Given the description of an element on the screen output the (x, y) to click on. 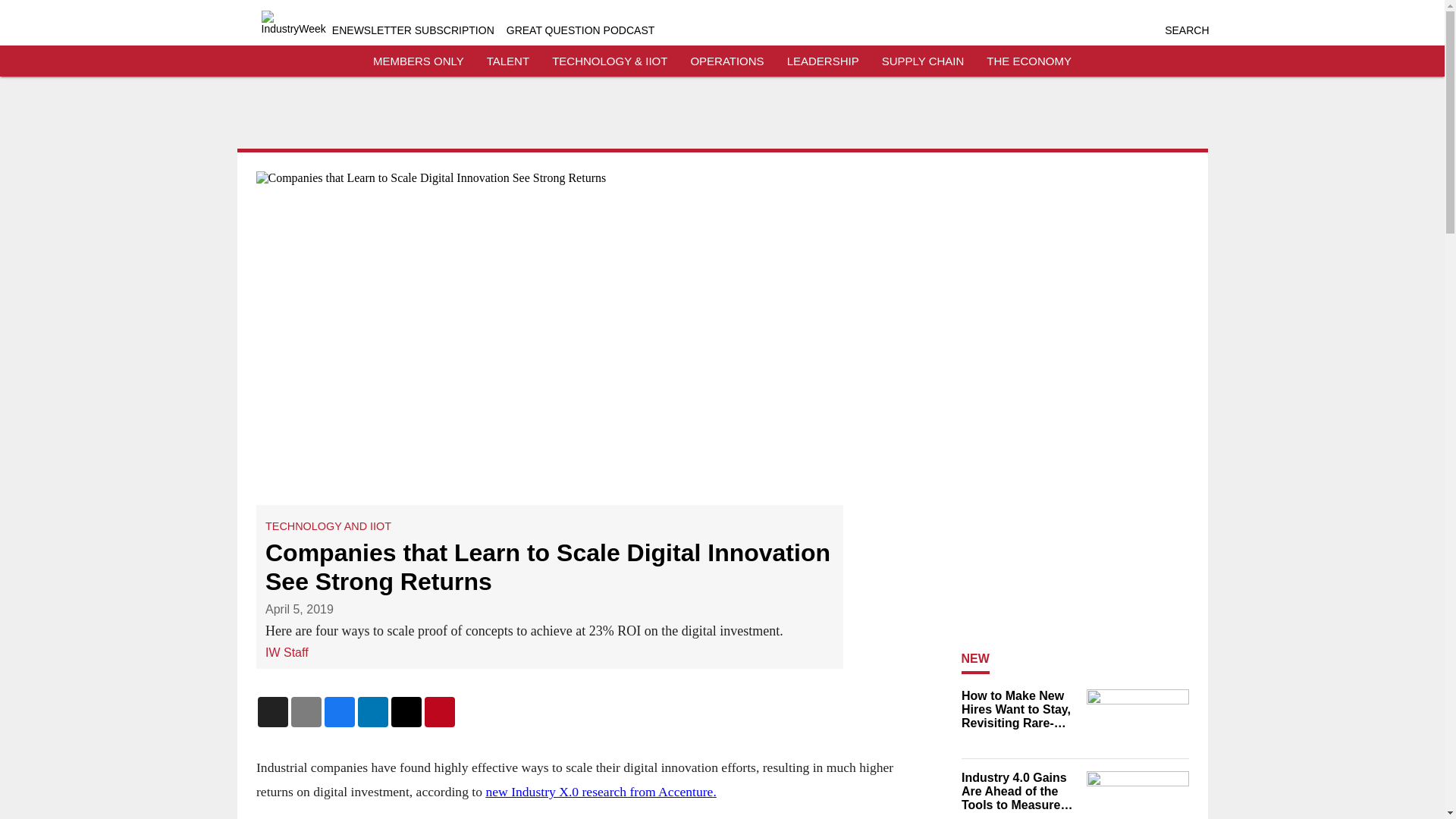
MEMBERS ONLY (418, 60)
IW Staff (286, 652)
new Industry X.0 research from Accenture (598, 791)
TECHNOLOGY AND IIOT (327, 526)
LEADERSHIP (823, 60)
SEARCH (1186, 30)
OPERATIONS (726, 60)
Industry 4.0 Gains Are Ahead of the Tools to Measure Them (1019, 791)
GREAT QUESTION PODCAST (580, 30)
THE ECONOMY (1029, 60)
SUPPLY CHAIN (922, 60)
TALENT (507, 60)
ENEWSLETTER SUBSCRIPTION (413, 30)
